Given the description of an element on the screen output the (x, y) to click on. 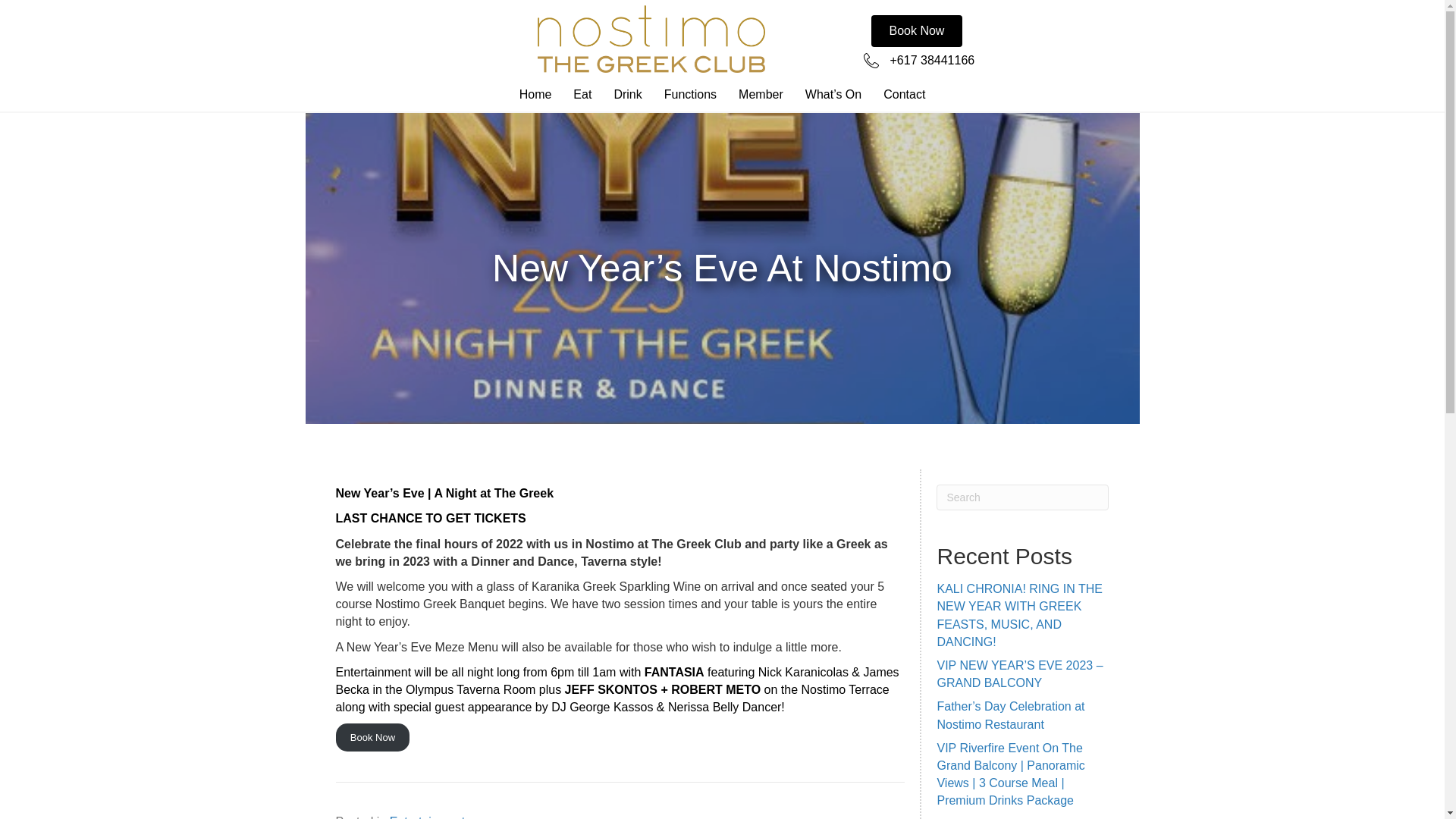
Drink Element type: text (627, 94)
Eat Element type: text (582, 94)
Book Now Element type: text (916, 31)
Home Element type: text (535, 94)
+617 38441166 Element type: text (932, 60)
Contact Element type: text (903, 94)
Functions Element type: text (690, 94)
Nostimo-The-Greek-Club-Logo Element type: hover (650, 39)
Book Now Element type: text (372, 737)
Member Element type: text (760, 94)
Type and press Enter to search. Element type: hover (1022, 497)
